Given the description of an element on the screen output the (x, y) to click on. 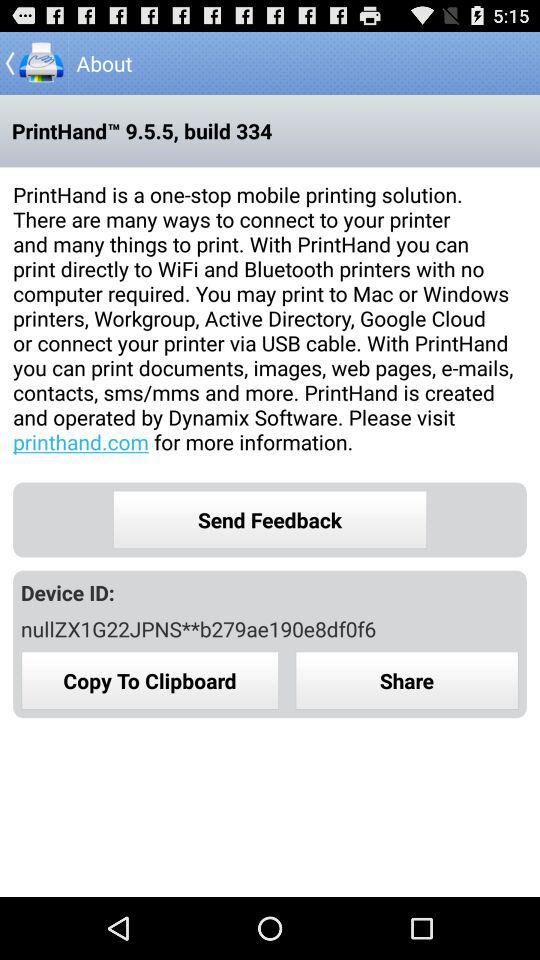
open icon below nullzx1g22jpns**b279ae190e8df0f6 app (150, 680)
